Given the description of an element on the screen output the (x, y) to click on. 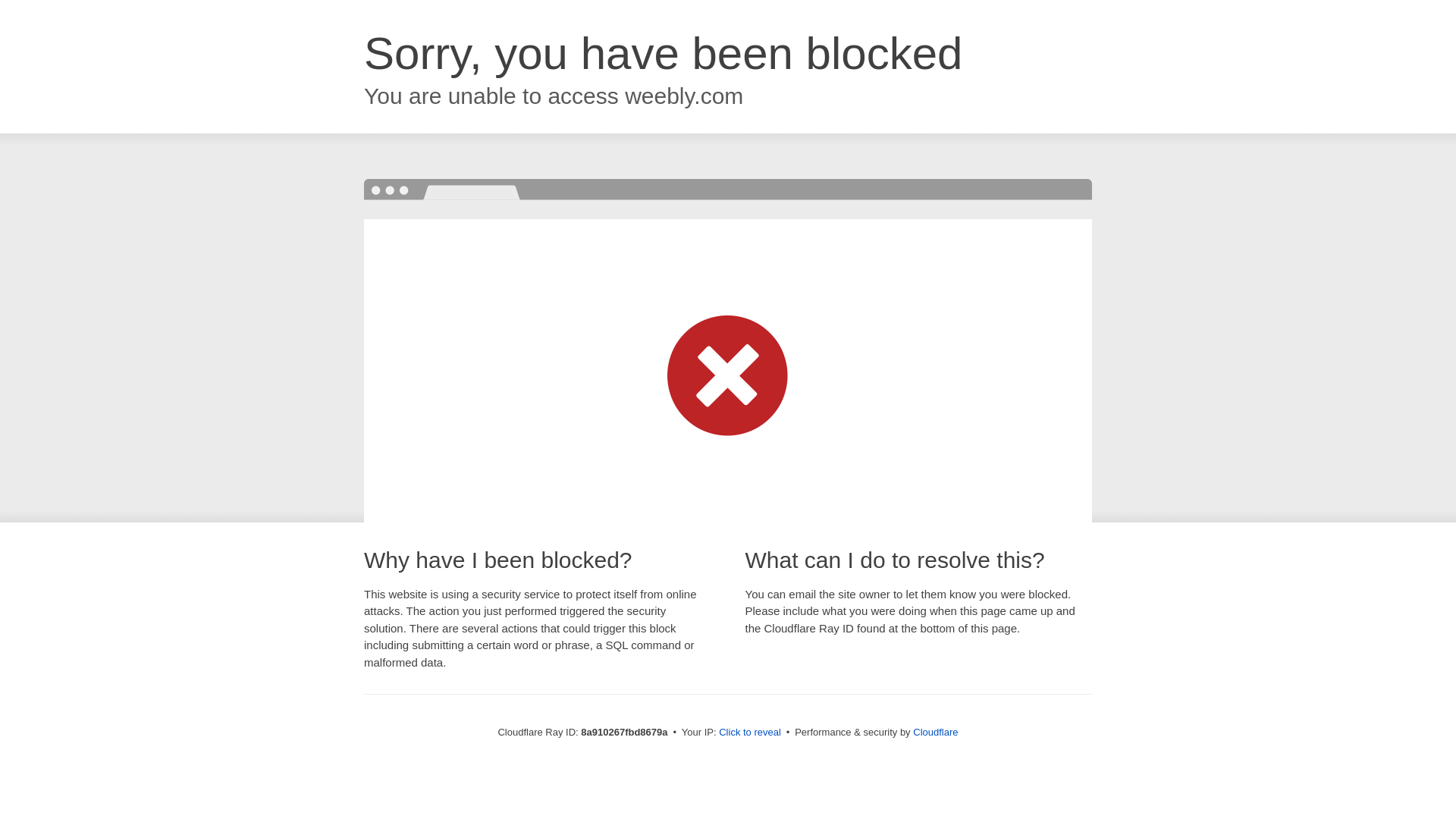
Click to reveal (749, 732)
Cloudflare (935, 731)
